Given the description of an element on the screen output the (x, y) to click on. 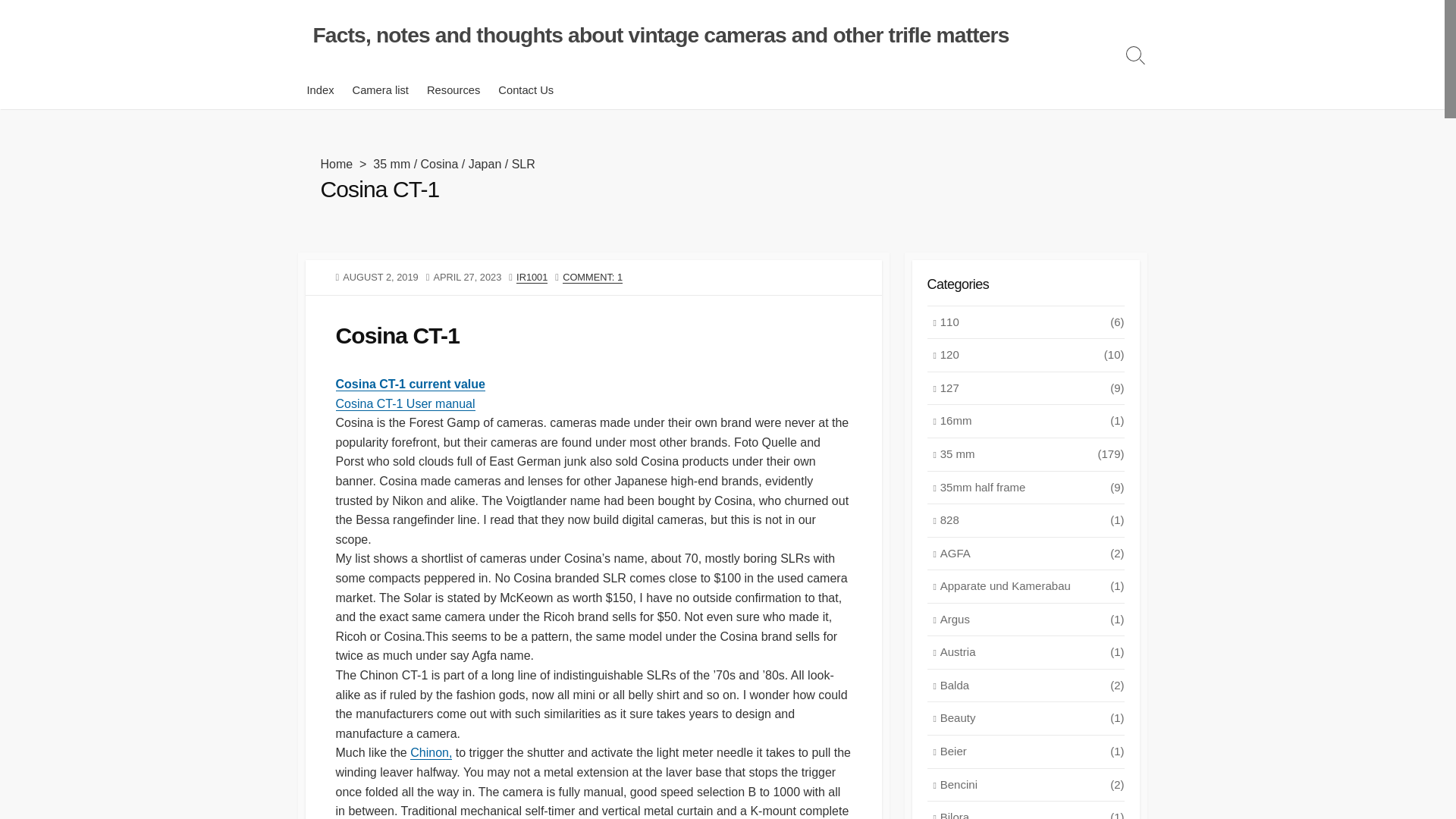
Resources (453, 89)
SLR (523, 164)
Cosina (439, 164)
Index (319, 89)
Search Toggle (1135, 54)
Japan (485, 164)
COMMENT: 1 (592, 276)
Cosina CT-1 User manual (404, 403)
Home (336, 164)
35 mm (391, 164)
Cosina CT-1 current value (409, 383)
Posts by ir1001 (531, 276)
Chinon, (430, 752)
